Given the description of an element on the screen output the (x, y) to click on. 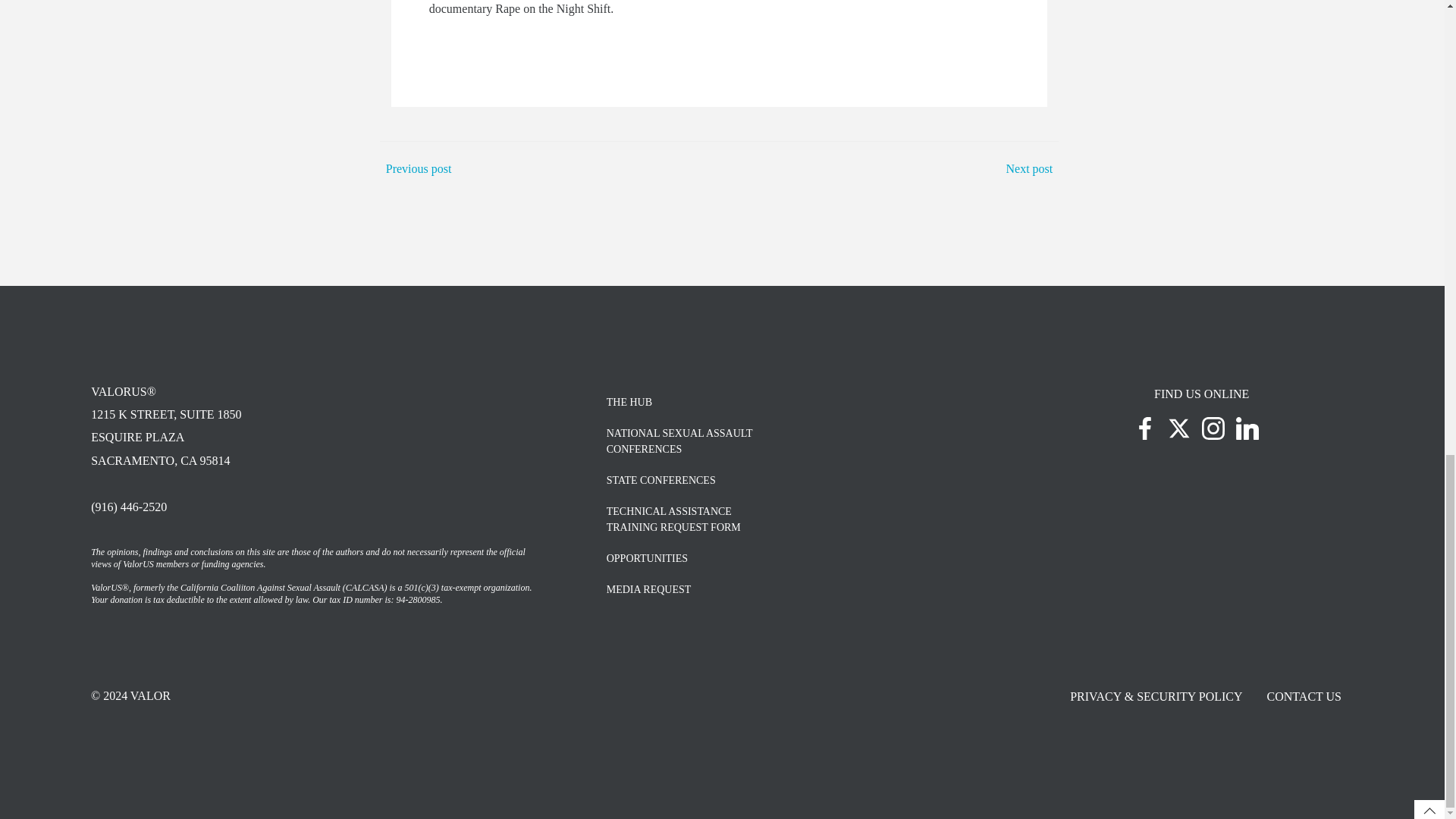
STATE CONFERENCES (794, 480)
Next post (1029, 168)
THE HUB (794, 441)
Previous post (794, 401)
